Given the description of an element on the screen output the (x, y) to click on. 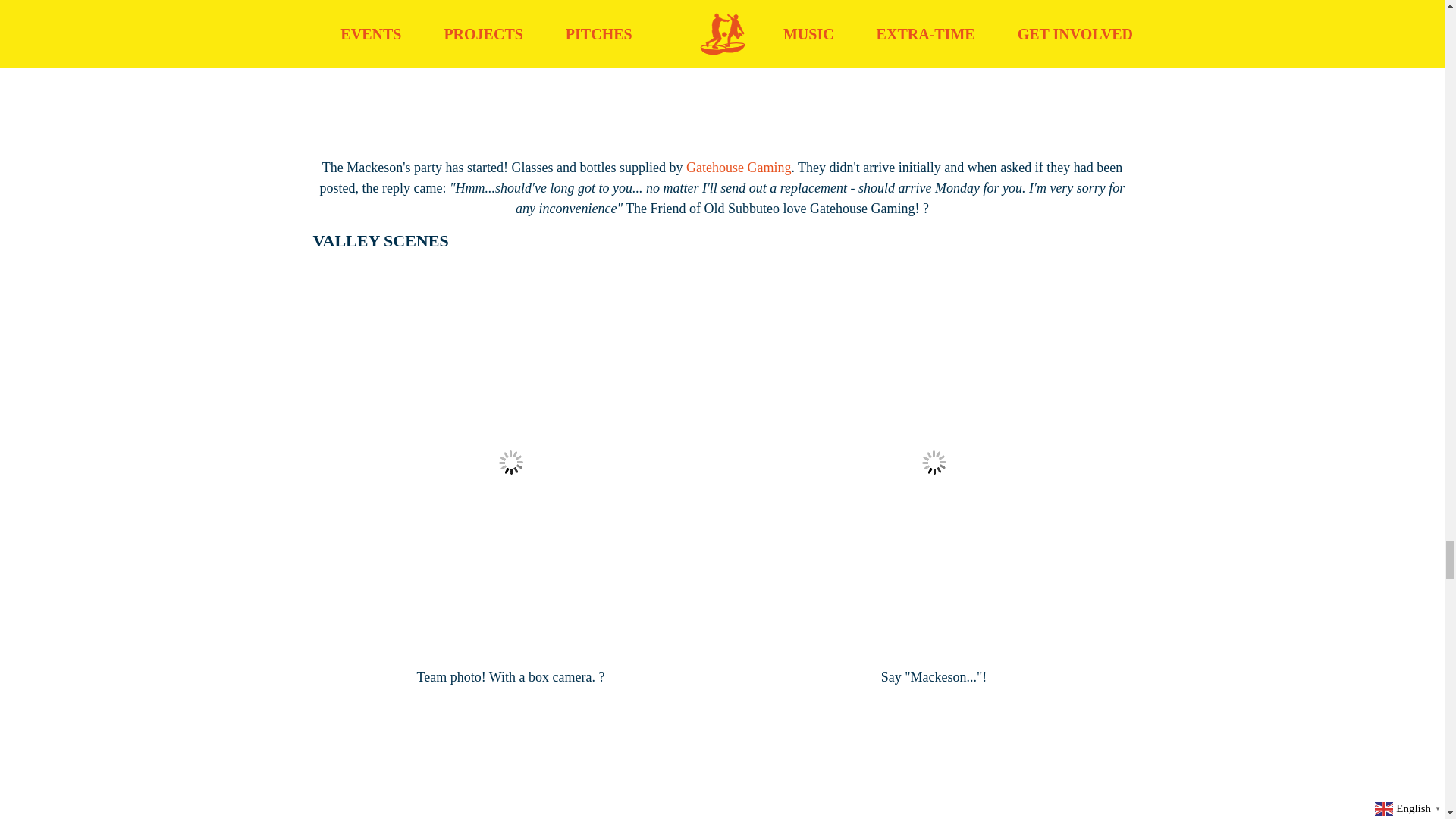
Gatehouse Gaming (737, 167)
